Given the description of an element on the screen output the (x, y) to click on. 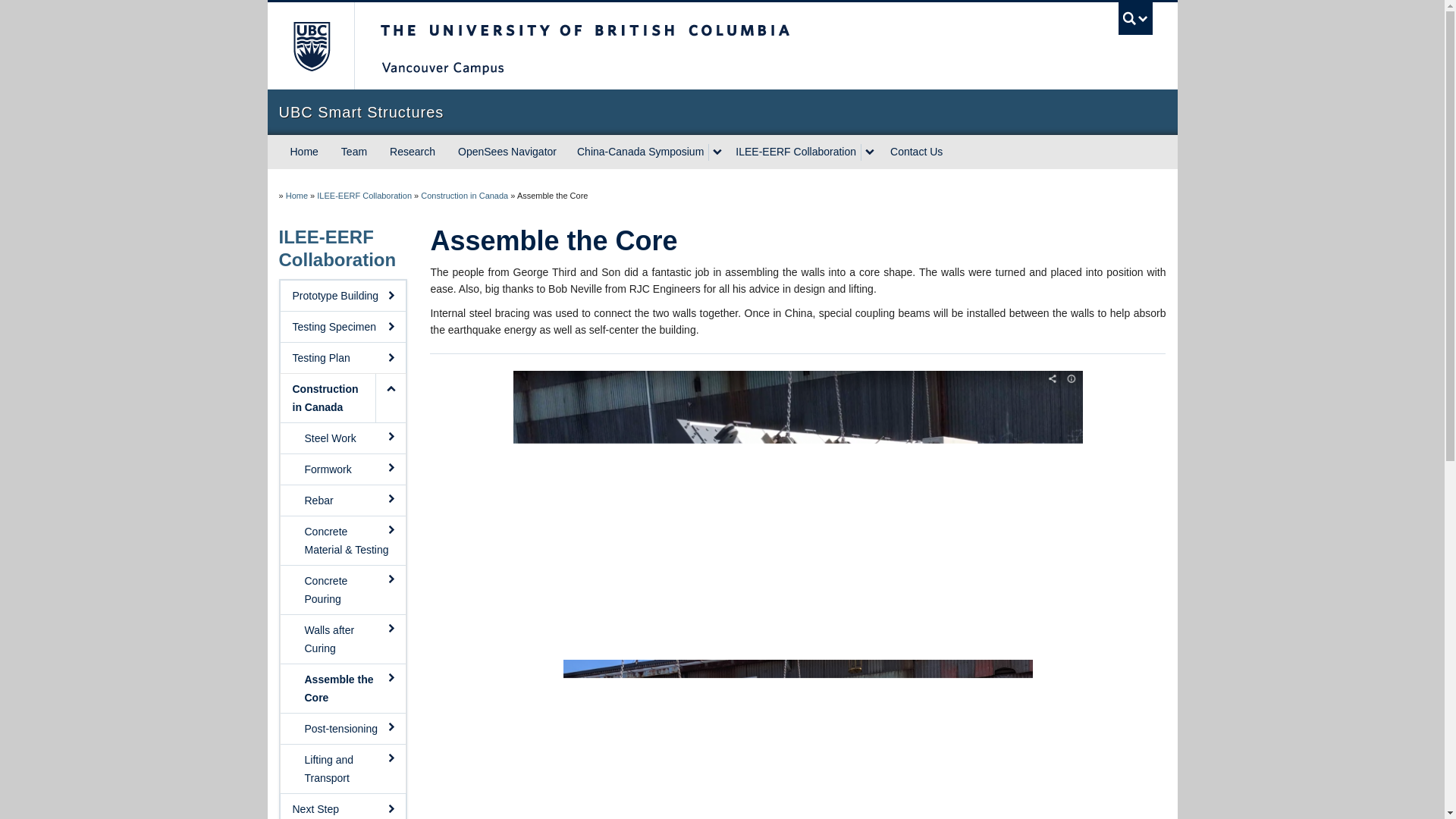
Home (296, 194)
OpenSees Navigator (506, 151)
China-Canada Symposium (638, 151)
Construction in Canada (464, 194)
Team (354, 151)
Smart Structures (296, 194)
UBC Smart Structures (722, 112)
The University of British Columbia (309, 45)
ILEE-EERF Collaboration (364, 194)
UBC Search (1135, 18)
Prototype Building (343, 295)
ILEE-EERF Collaboration (364, 194)
Construction in Canada (464, 194)
UBC Smart Structures (722, 112)
ILEE-EERF Collaboration (337, 248)
